Given the description of an element on the screen output the (x, y) to click on. 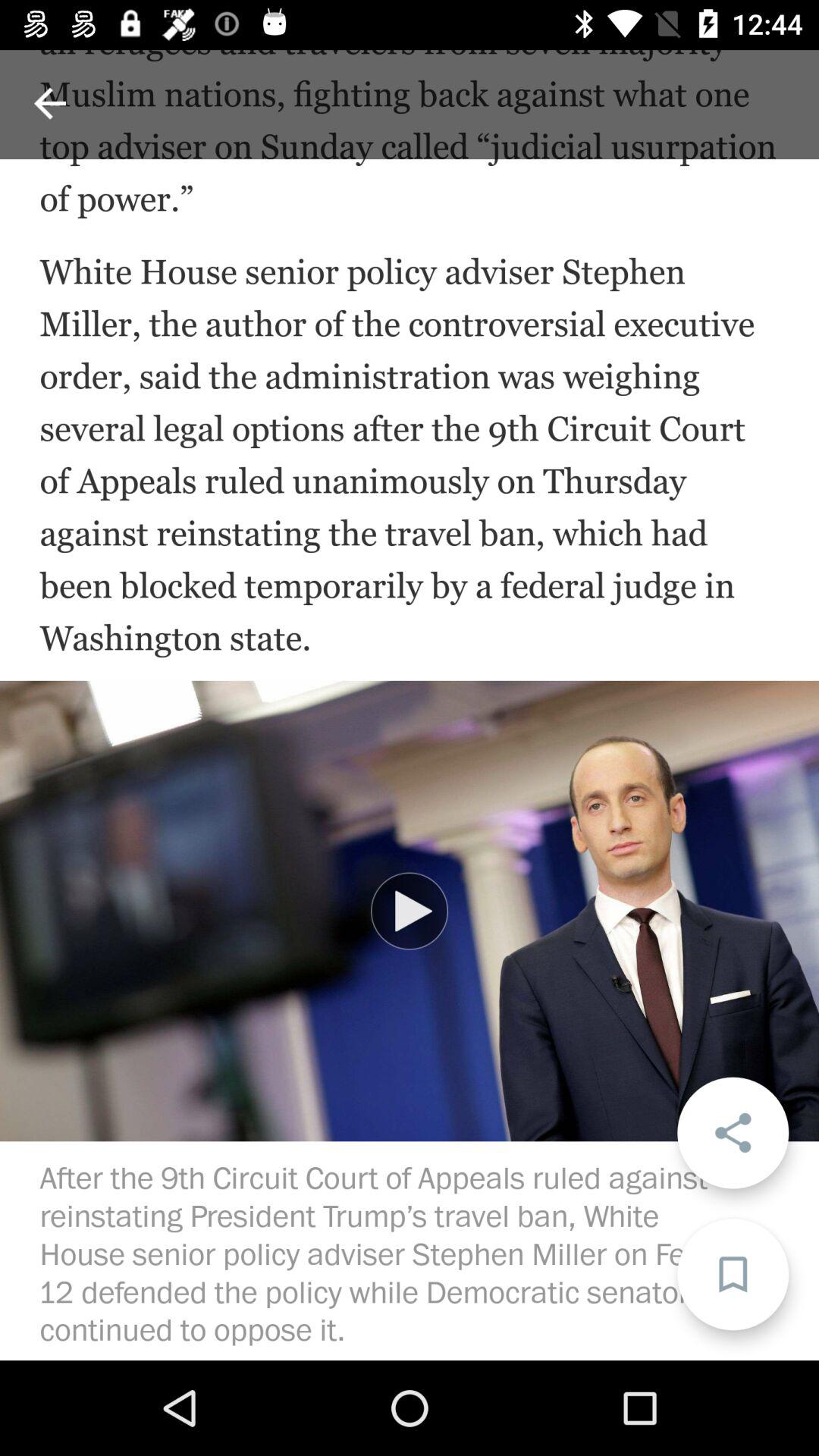
go back (49, 103)
